Given the description of an element on the screen output the (x, y) to click on. 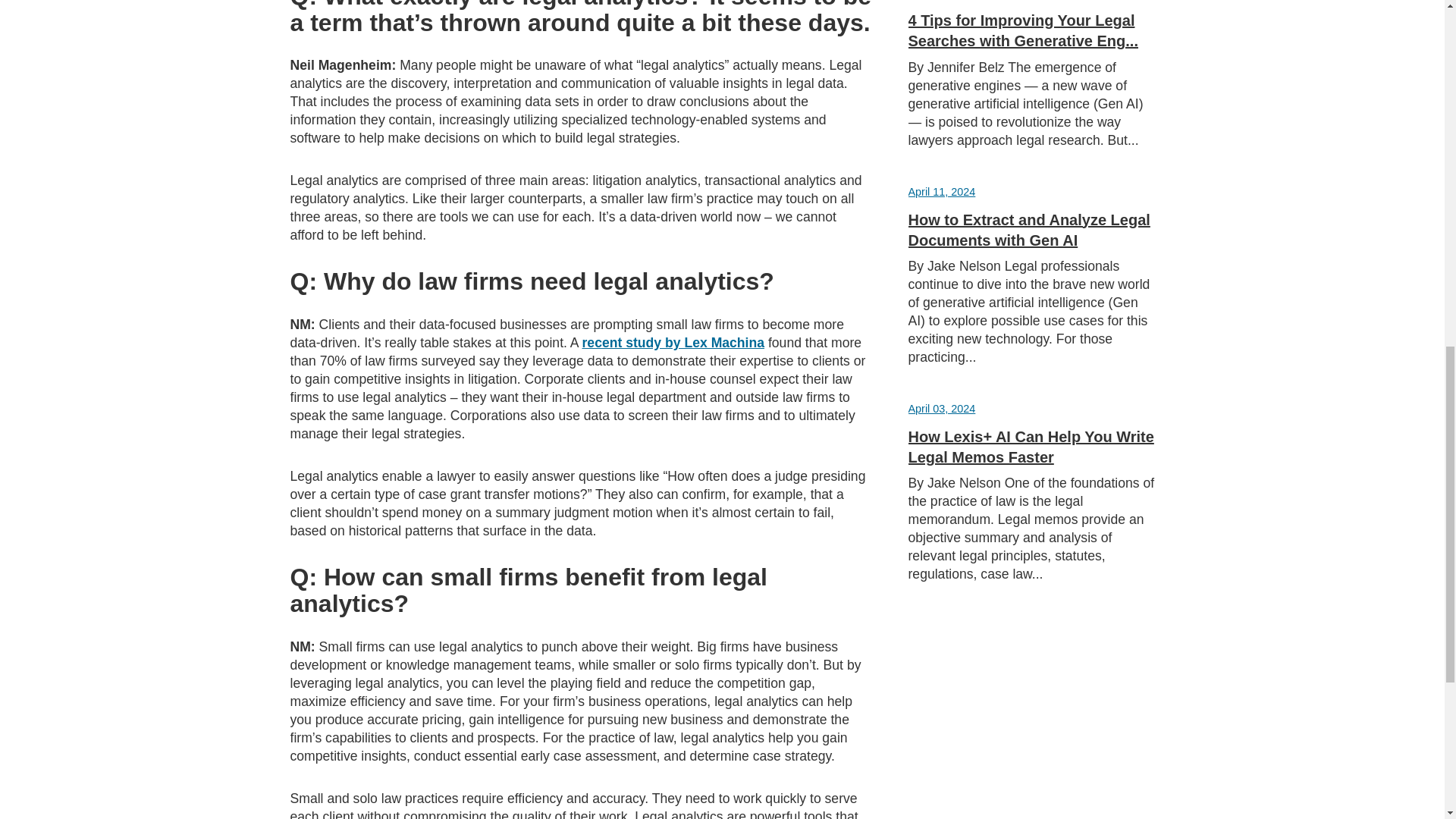
April 03, 2024 (941, 408)
recent study by Lex Machina (673, 342)
April 11, 2024 (941, 191)
How to Extract and Analyze Legal Documents with Gen AI (1029, 229)
